Given the description of an element on the screen output the (x, y) to click on. 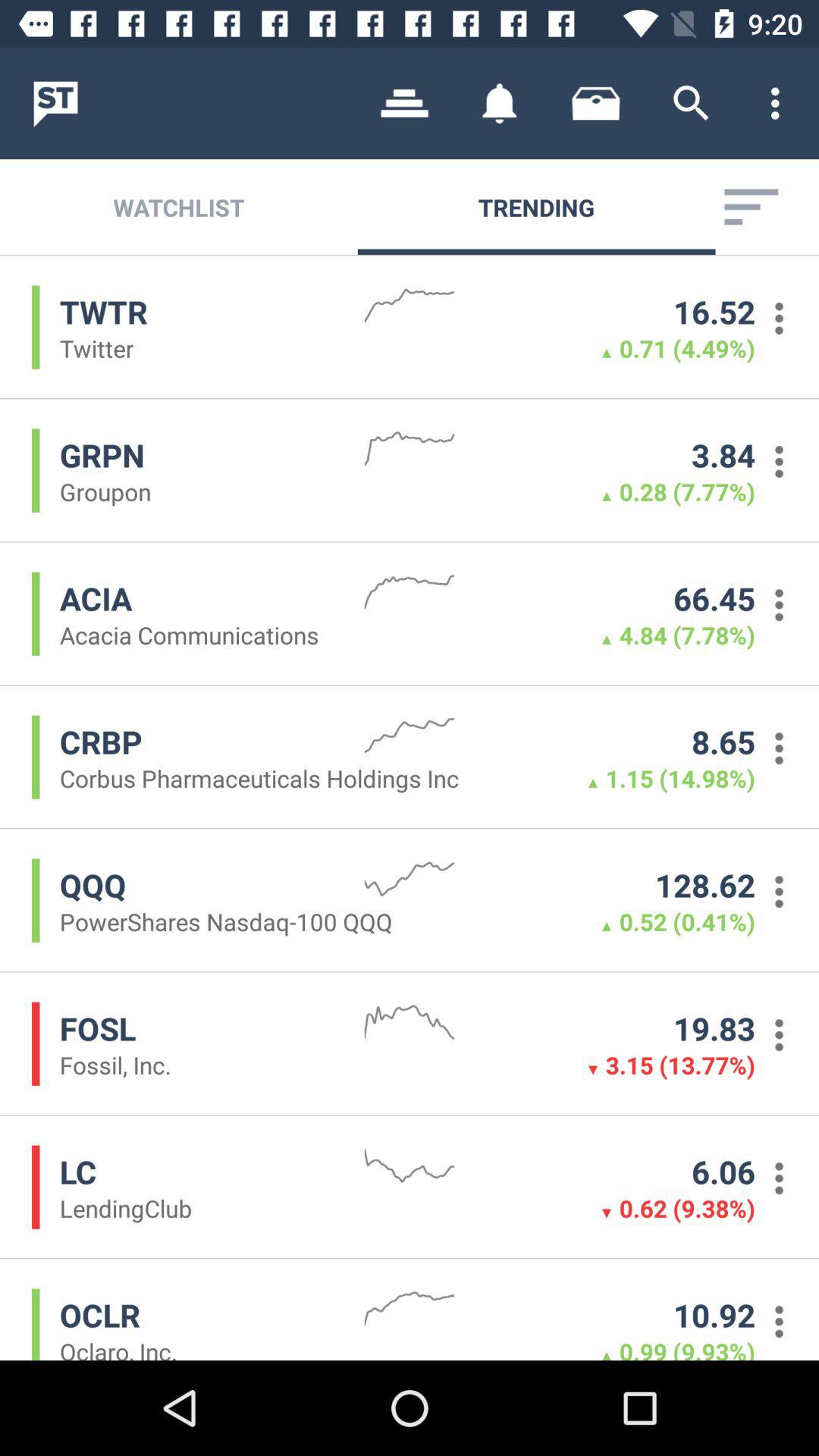
launch item next to watchlist item (404, 103)
